Given the description of an element on the screen output the (x, y) to click on. 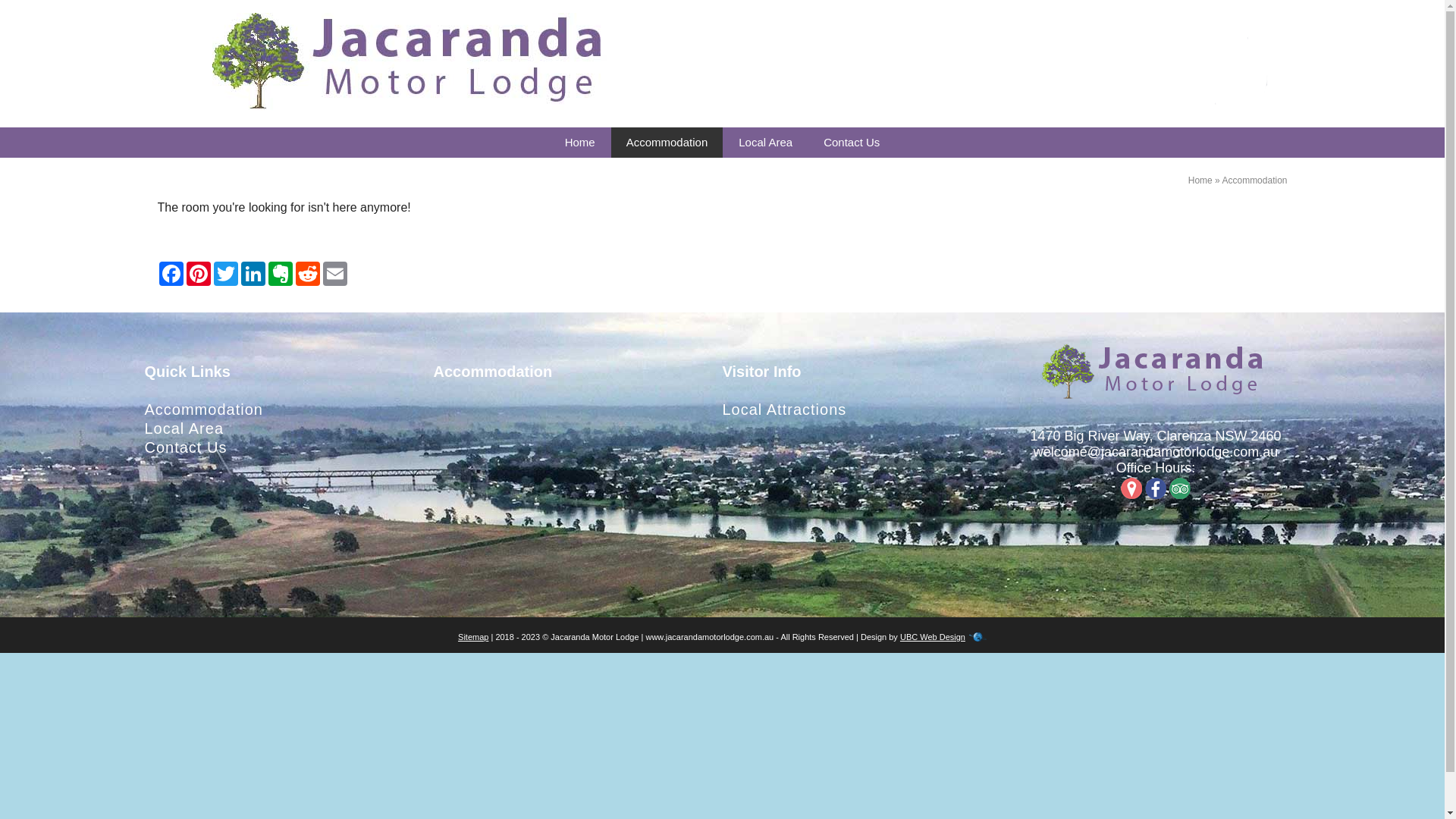
Accommodation Element type: text (203, 409)
Contact Us Element type: text (185, 447)
Local Attractions Element type: text (783, 409)
Read traveller reviews on TripAdvisor Element type: hover (1179, 488)
Contact Us Element type: text (851, 142)
UBC Web Design Element type: text (932, 636)
Accommodation Element type: text (667, 142)
Accommodation Element type: text (1253, 180)
1470 Big River Way, Clarenza NSW 2460 Element type: text (1154, 435)
Local Area Element type: text (765, 142)
Follow us on Facebook Element type: hover (1155, 488)
Jacaranda Motor Lodge Element type: hover (1155, 371)
Our Location on Google maps Element type: hover (1131, 488)
Home Element type: text (1200, 180)
Sitemap Element type: text (473, 636)
Home Element type: text (579, 142)
Local Area Element type: text (183, 428)
welcome@jacarandamotorlodge.com.au Element type: text (1155, 451)
Jacaranda Motor Lodge Element type: hover (413, 61)
